Given the description of an element on the screen output the (x, y) to click on. 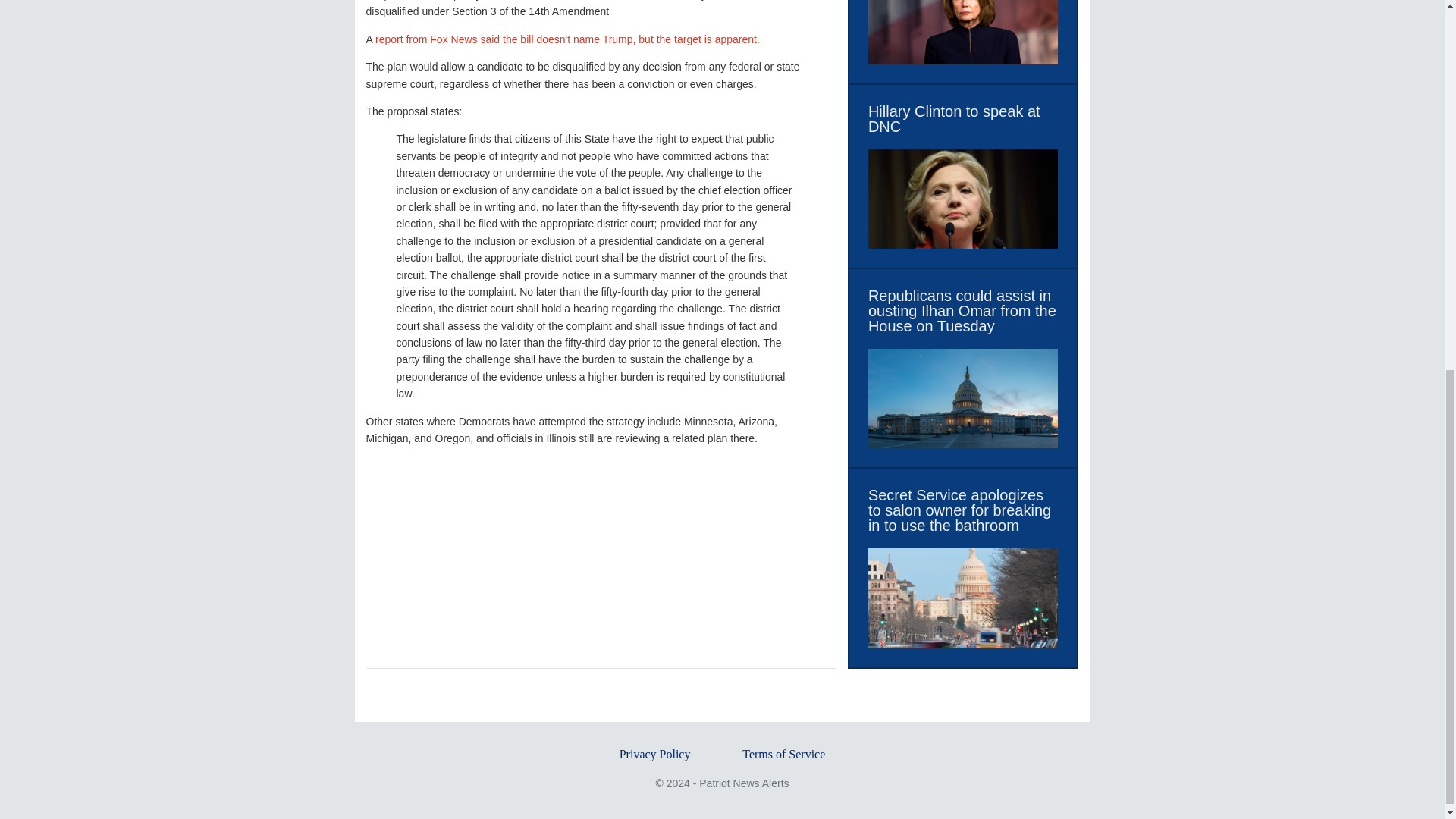
Hillary Clinton to speak at DNC (962, 119)
Privacy Policy (655, 754)
Terms of Service (783, 754)
